Given the description of an element on the screen output the (x, y) to click on. 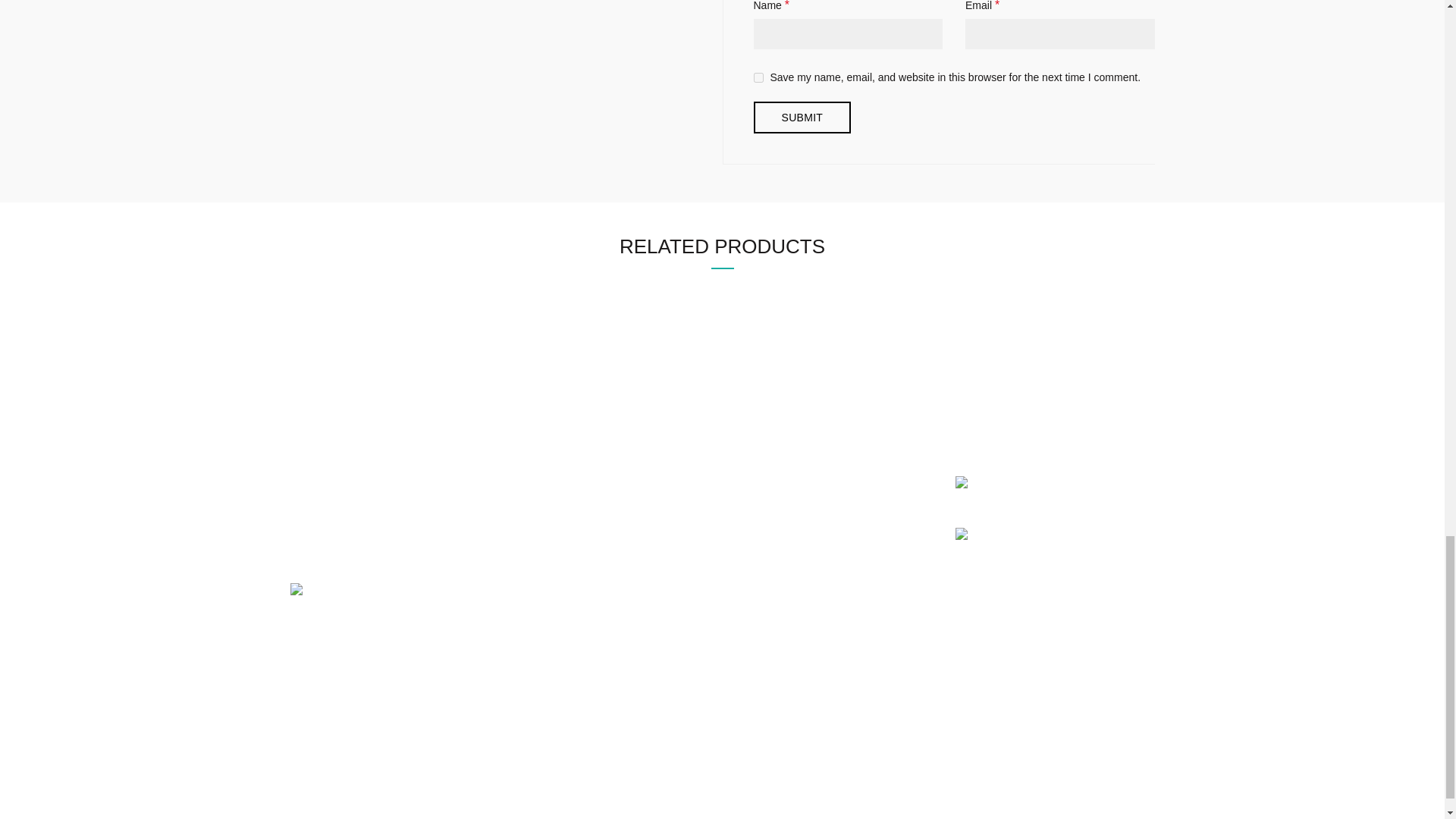
DMCA.com Protection Status (364, 590)
yes (758, 77)
Jacket In Leather (721, 354)
Submit (802, 117)
